Given the description of an element on the screen output the (x, y) to click on. 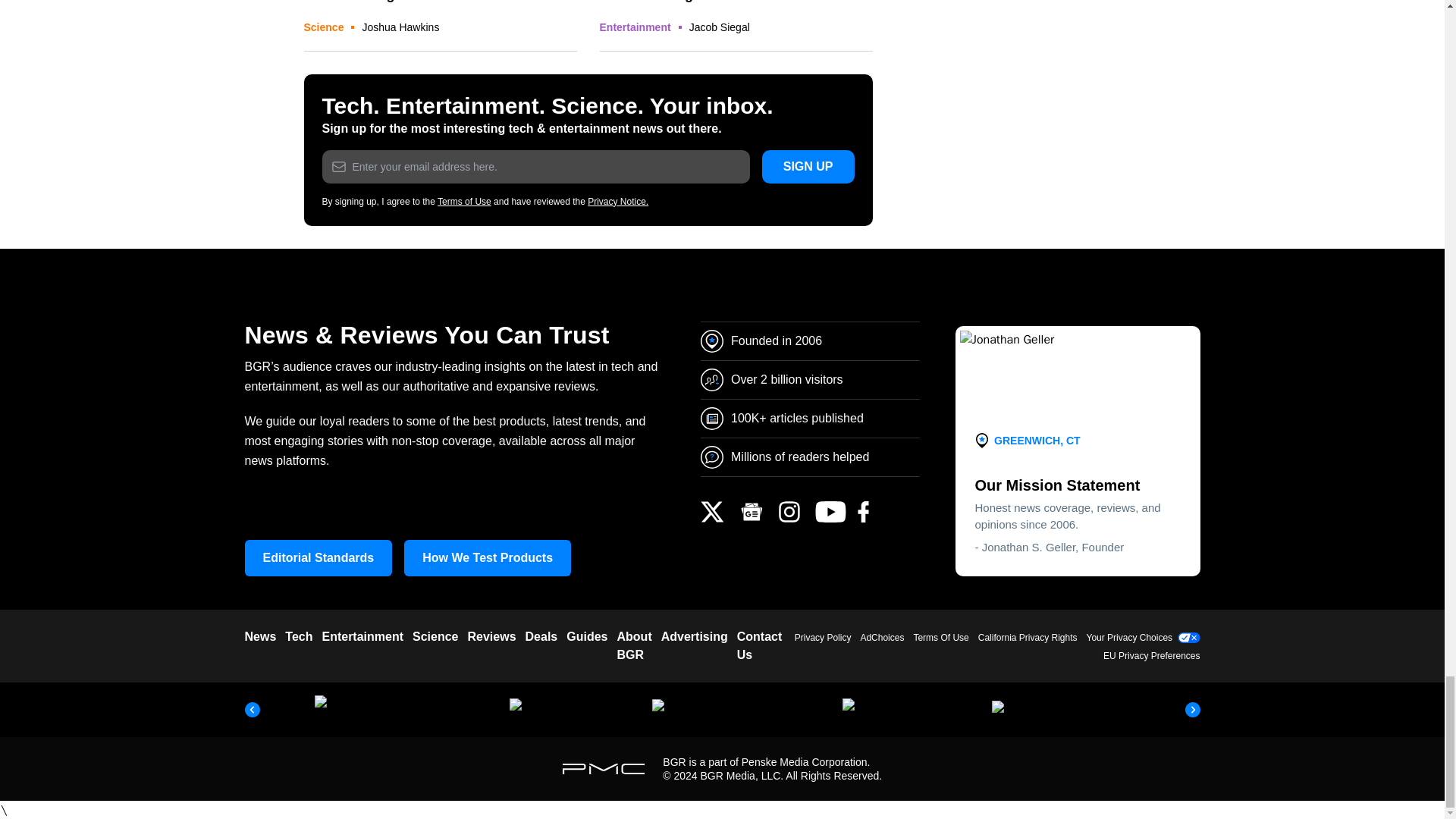
Posts by Jacob Siegal (718, 27)
Posts by Joshua Hawkins (400, 27)
